Given the description of an element on the screen output the (x, y) to click on. 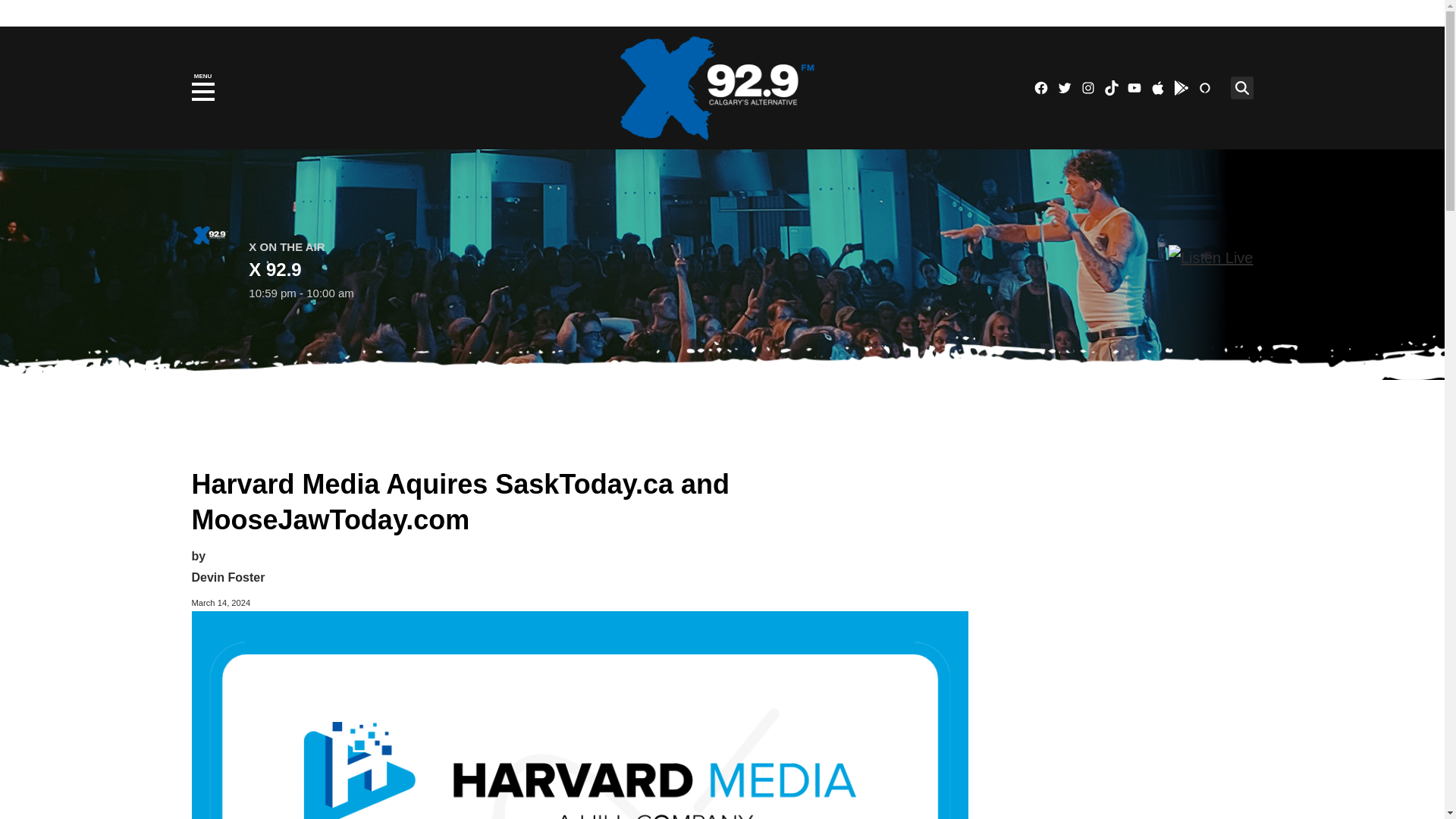
3rd party ad content (1135, 554)
3rd party ad content (721, 413)
